Given the description of an element on the screen output the (x, y) to click on. 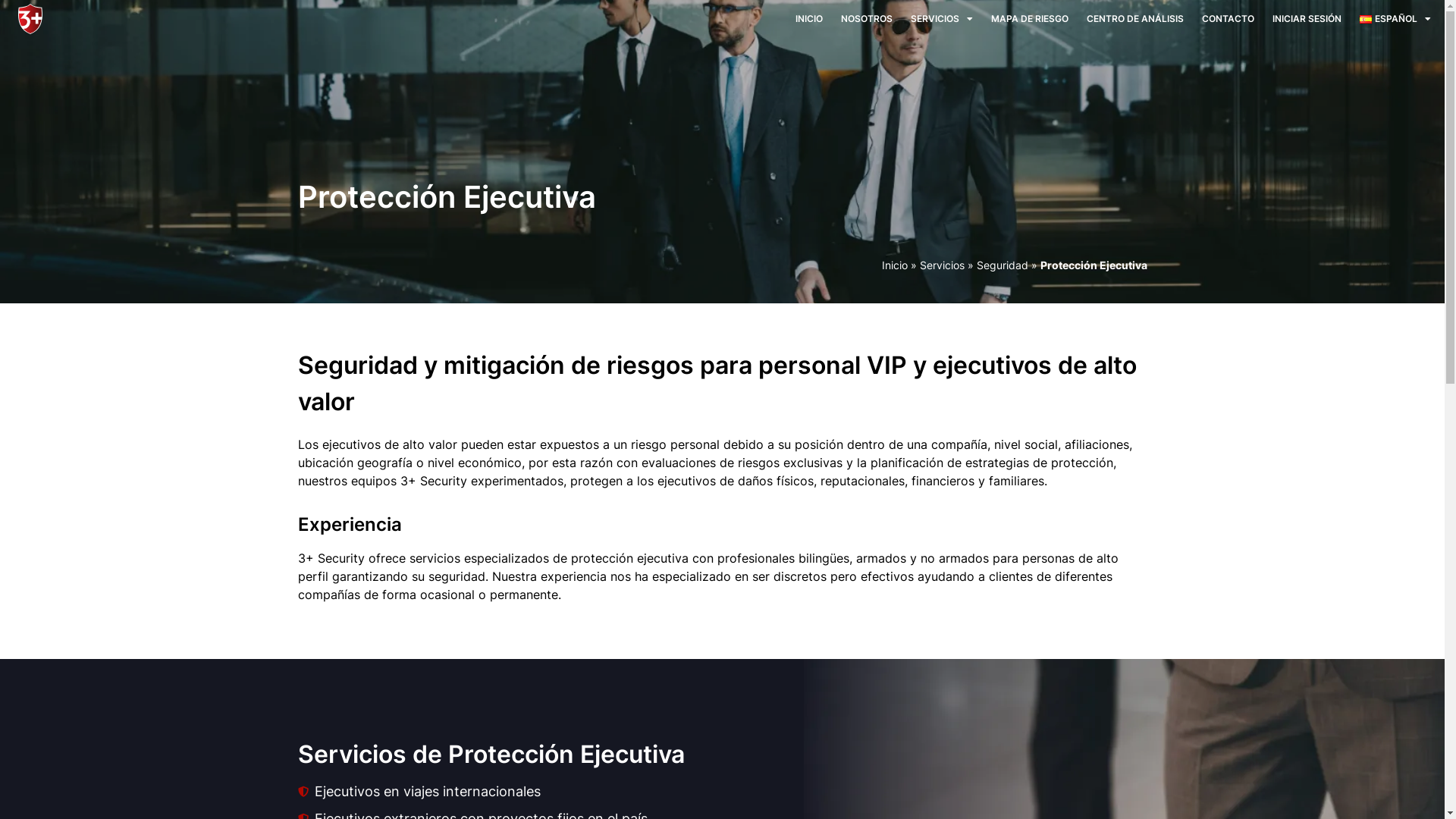
Seguridad Element type: text (1002, 265)
MAPA DE RIESGO Element type: text (1029, 18)
NOSOTROS Element type: text (866, 18)
INICIO Element type: text (808, 18)
CONTACTO Element type: text (1227, 18)
SERVICIOS Element type: text (941, 18)
Servicios Element type: text (941, 265)
Inicio Element type: text (893, 265)
